Given the description of an element on the screen output the (x, y) to click on. 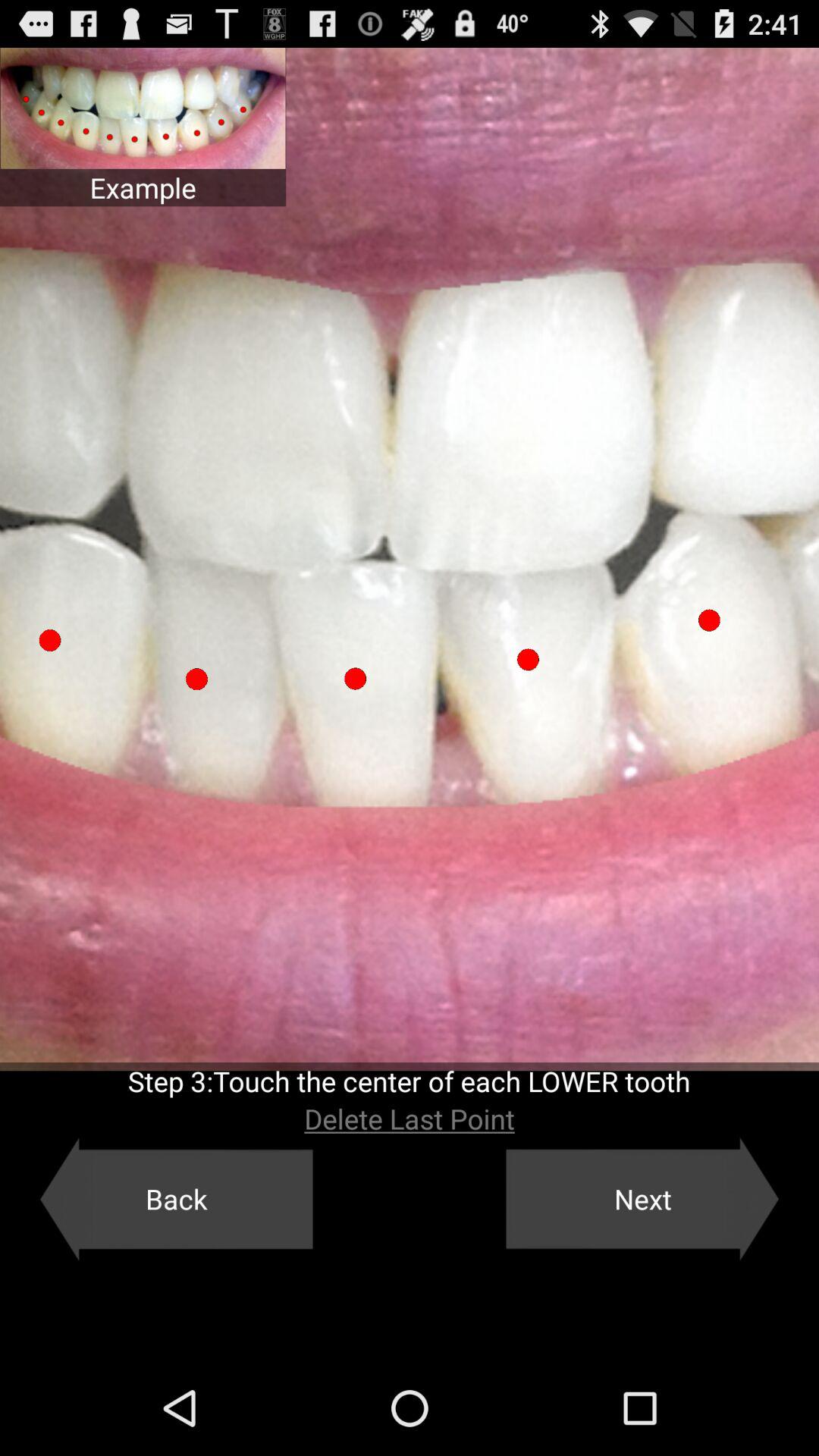
launch item next to the back icon (642, 1198)
